Given the description of an element on the screen output the (x, y) to click on. 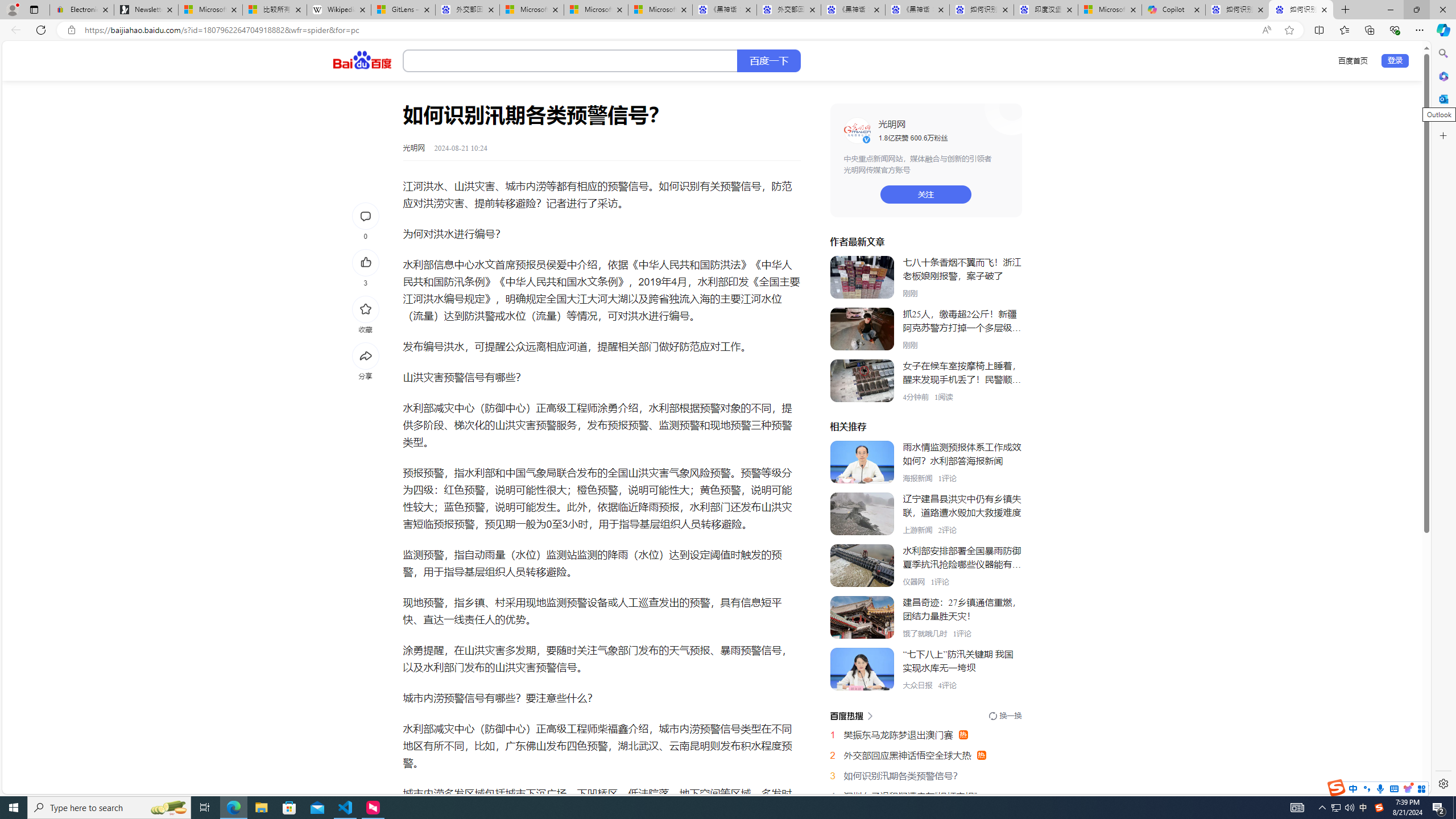
Class: _3aYo6 (861, 380)
